Given the description of an element on the screen output the (x, y) to click on. 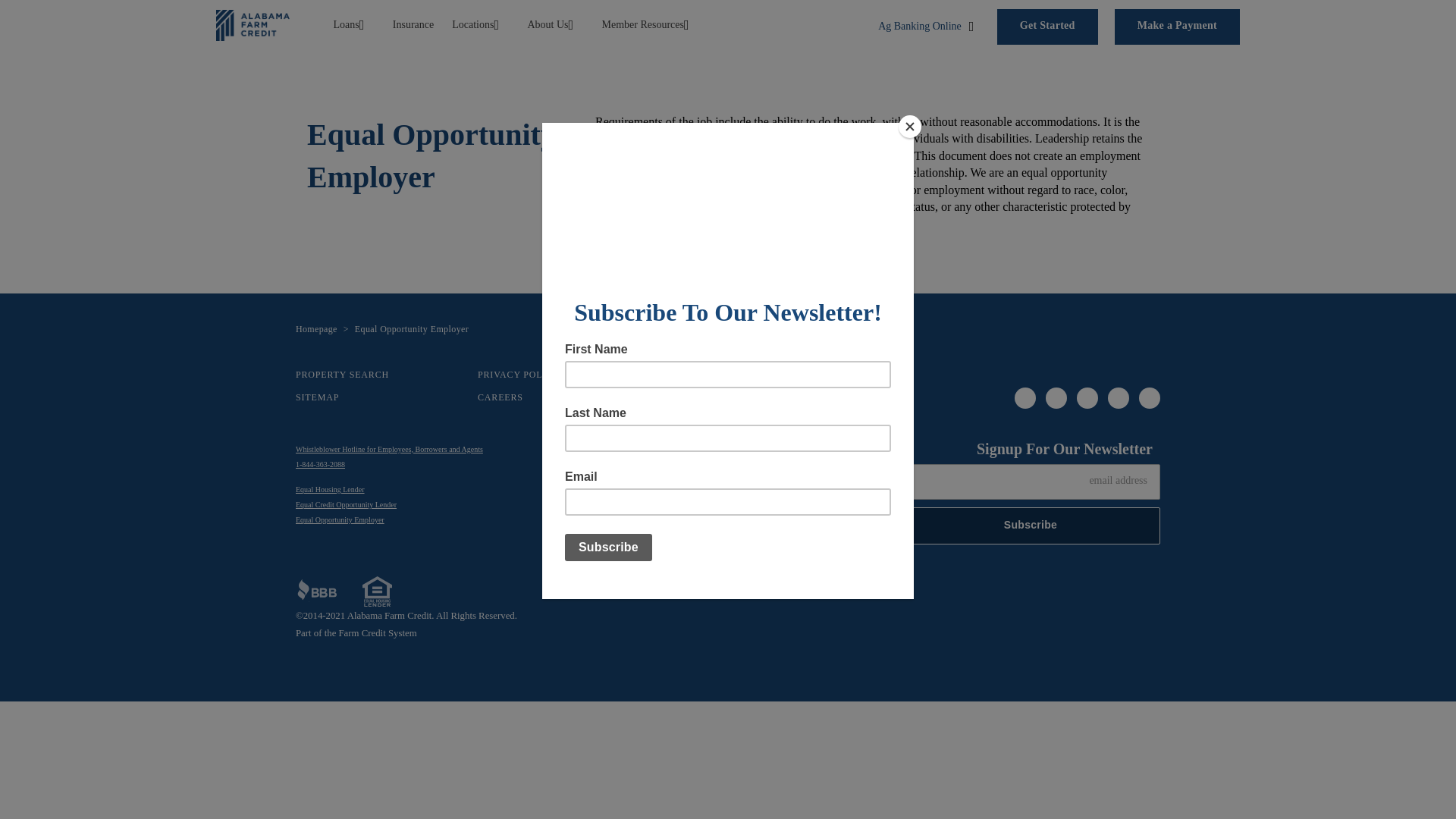
Subscribe (1030, 525)
Toggle submenu for Loans (575, 24)
Locations (468, 24)
Toggle submenu for Loans (366, 24)
Close Alert Bar (1440, 14)
afc-logo (252, 24)
Insurance (409, 24)
About Us (543, 24)
Loans (342, 24)
Toggle submenu for Loans (500, 24)
